Given the description of an element on the screen output the (x, y) to click on. 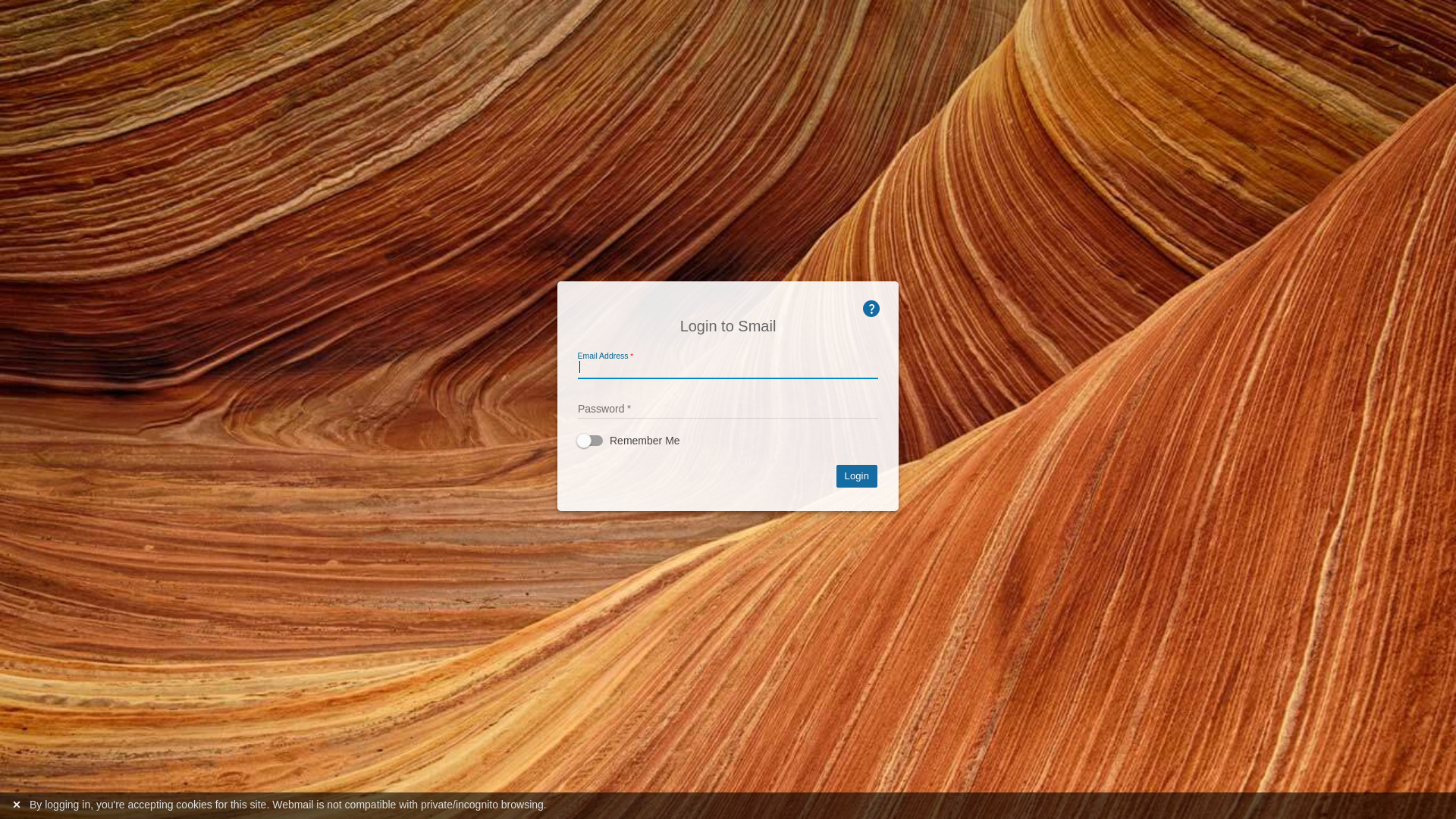
Login Element type: text (856, 475)
